Given the description of an element on the screen output the (x, y) to click on. 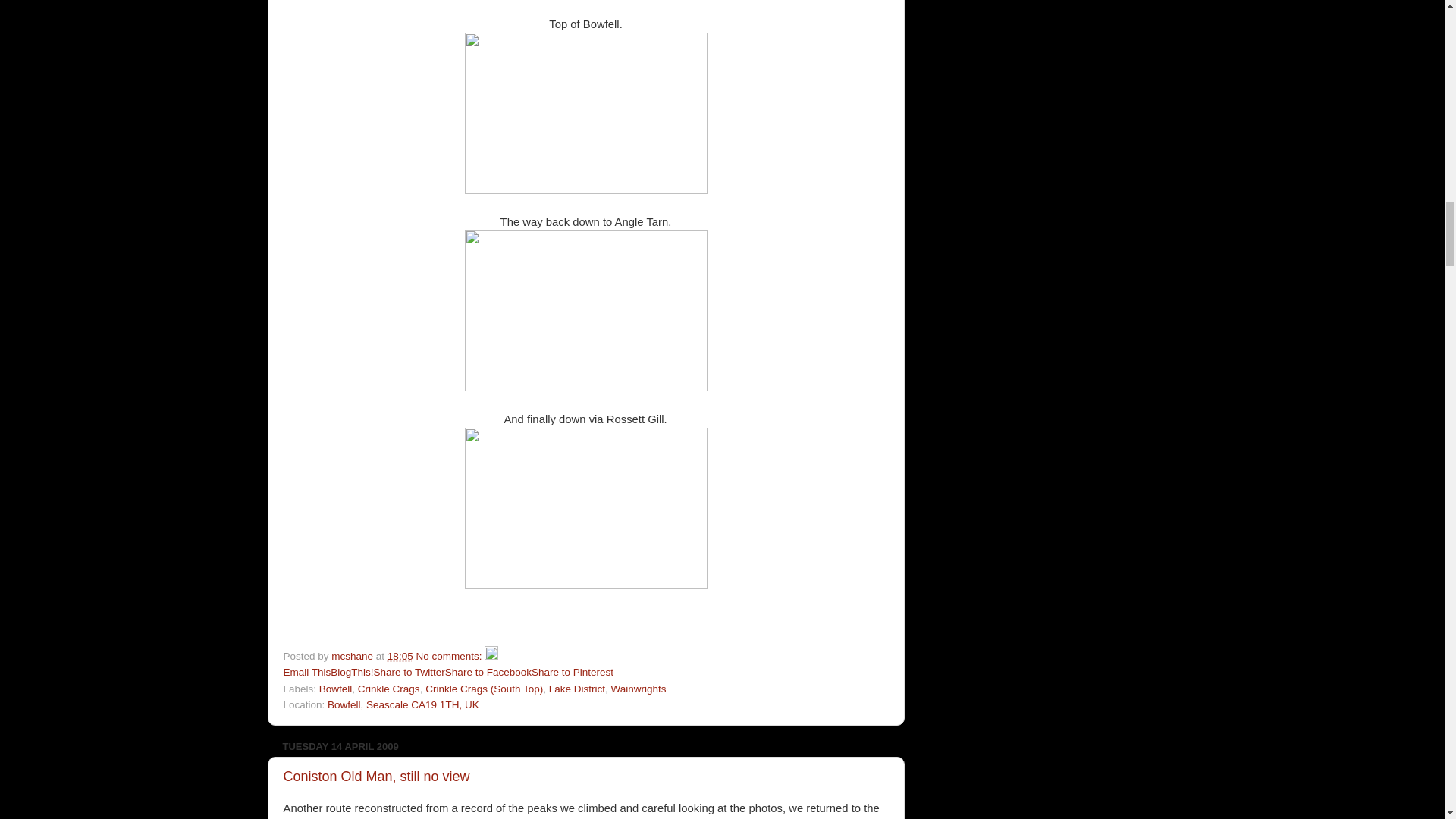
author profile (353, 655)
18:05 (400, 655)
Share to Pinterest (571, 672)
No comments: (449, 655)
Share to Twitter (409, 672)
BlogThis! (351, 672)
Wainwrights (638, 688)
Share to Twitter (409, 672)
Share to Pinterest (571, 672)
Coniston Old Man, still no view (376, 776)
Lake District (576, 688)
Bowfell (335, 688)
Email This (307, 672)
permanent link (400, 655)
Share to Facebook (488, 672)
